Given the description of an element on the screen output the (x, y) to click on. 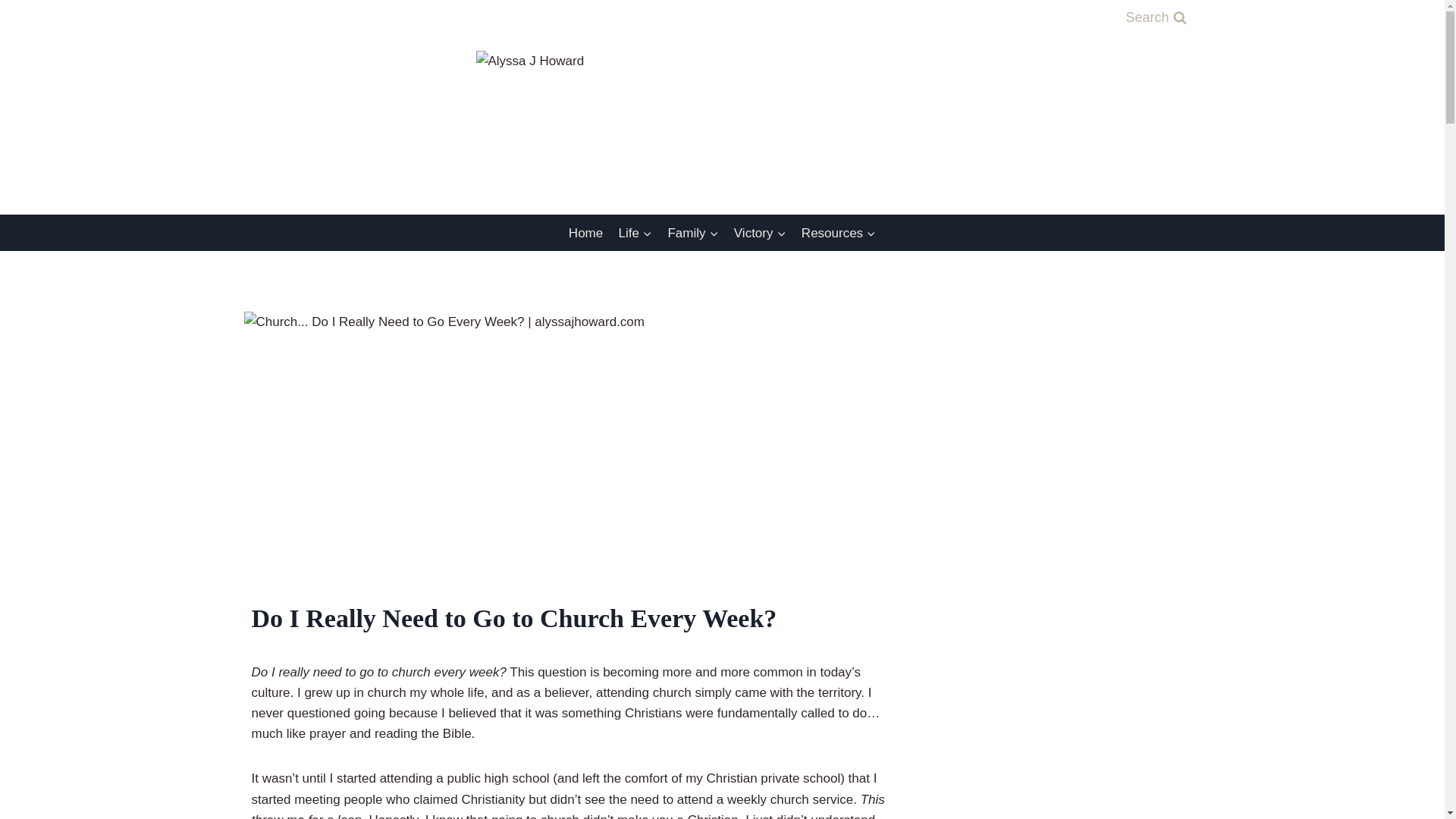
Family (692, 232)
Life (634, 232)
Resources (838, 232)
Home (585, 232)
Victory (759, 232)
Search (1155, 18)
